Given the description of an element on the screen output the (x, y) to click on. 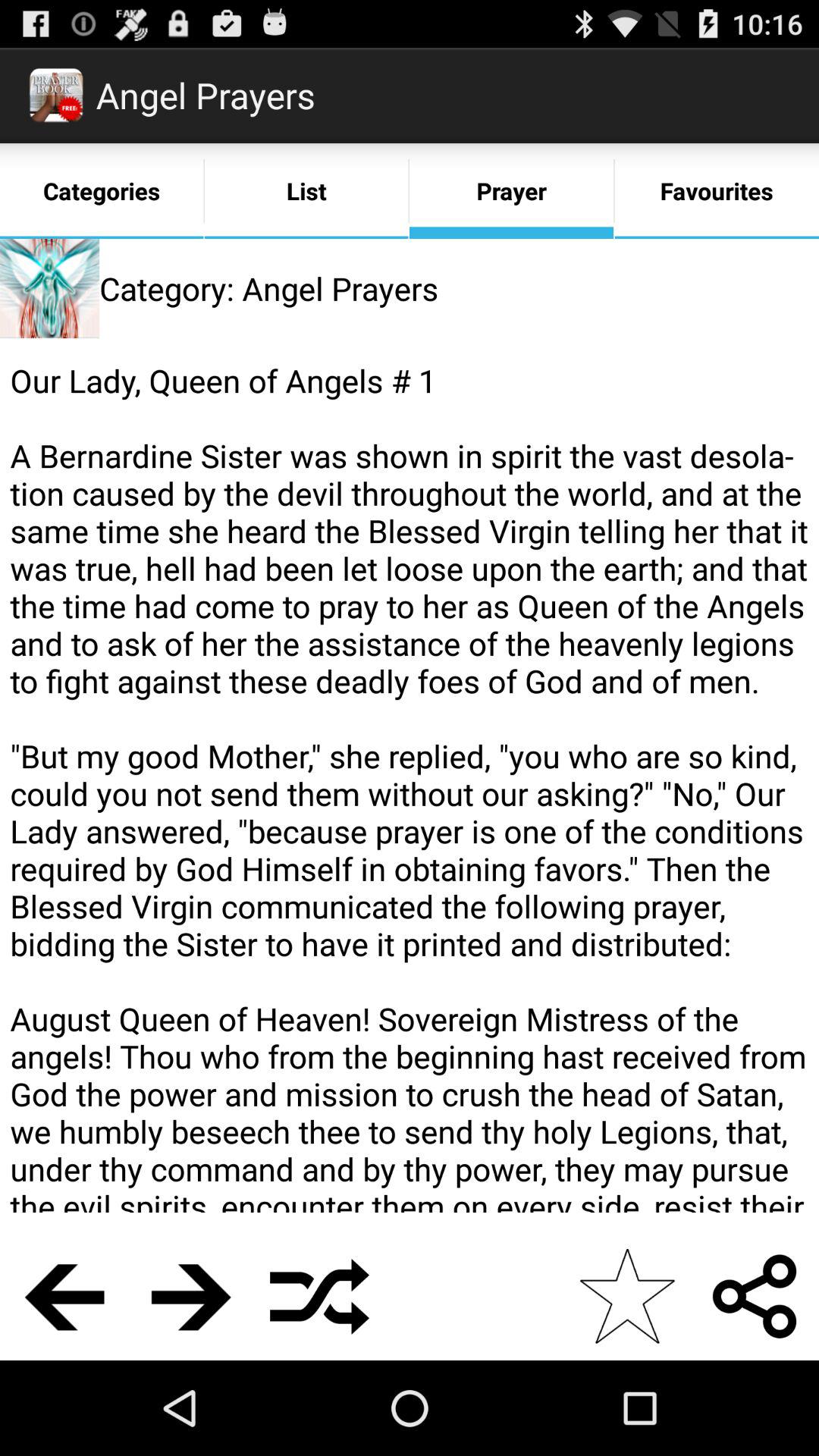
launch the item below our lady queen item (319, 1296)
